Given the description of an element on the screen output the (x, y) to click on. 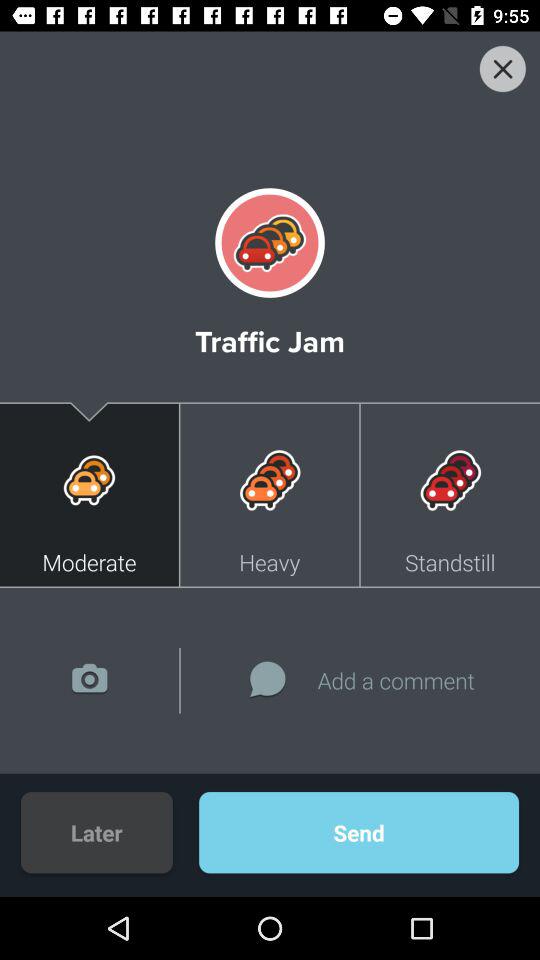
select the image above the button standstill on the web page (449, 480)
click on close icon in the top right corner of the web page (502, 68)
click on icon on the left side of heavy (89, 480)
click the close button on the web page (269, 81)
